Given the description of an element on the screen output the (x, y) to click on. 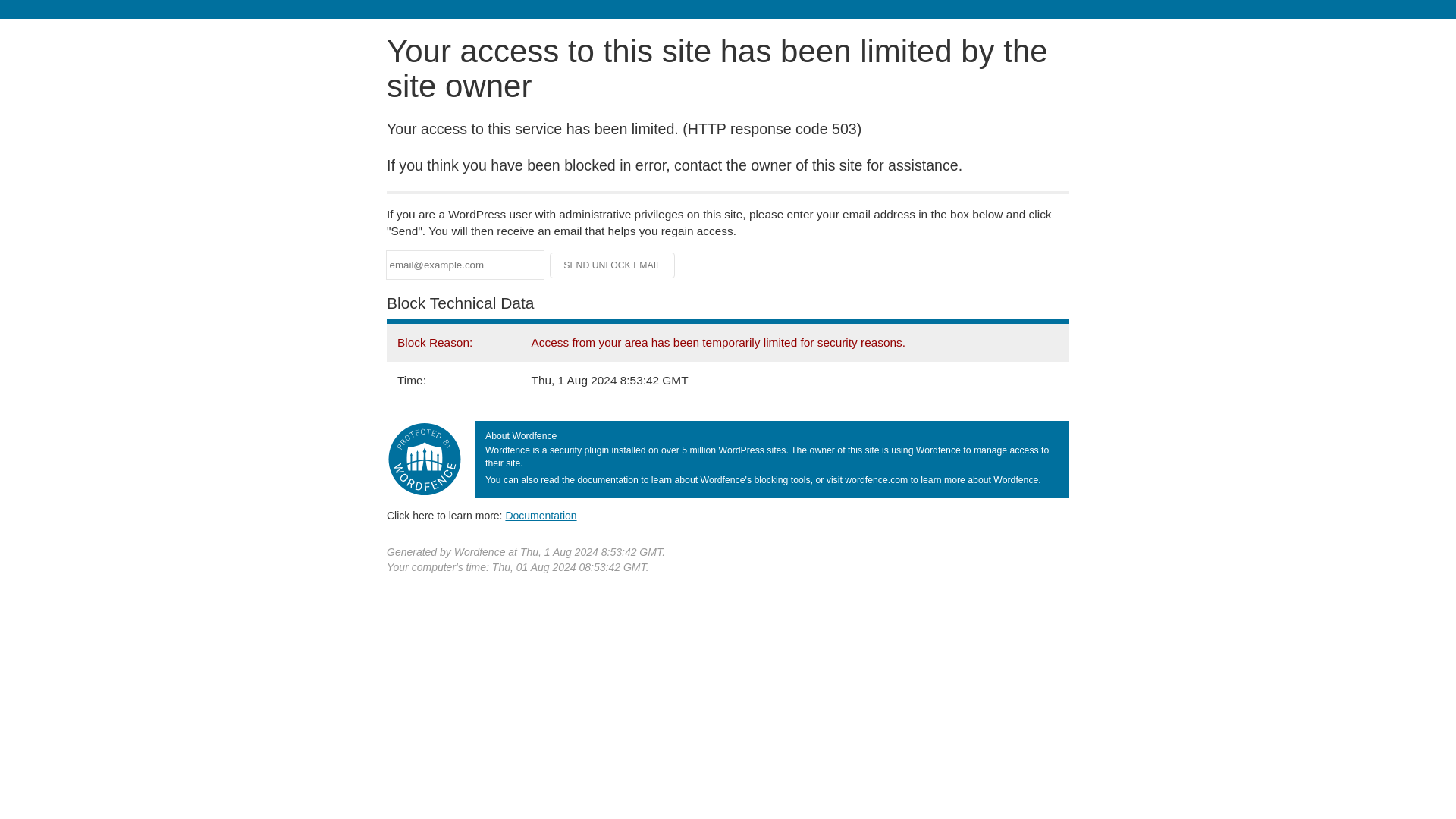
Send Unlock Email (612, 265)
Documentation (540, 515)
Send Unlock Email (612, 265)
